Given the description of an element on the screen output the (x, y) to click on. 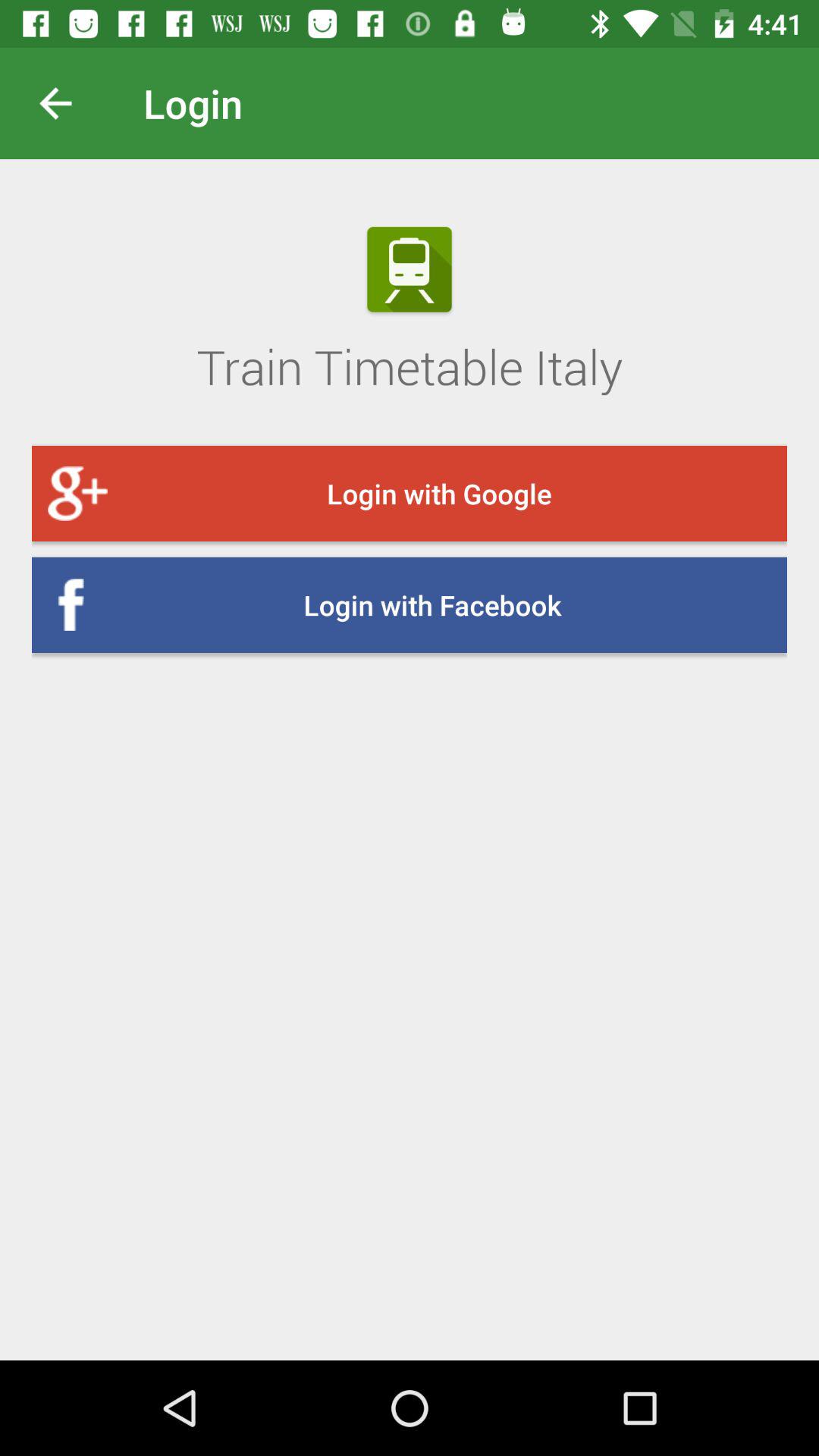
choose the icon above the train timetable italy icon (67, 103)
